Given the description of an element on the screen output the (x, y) to click on. 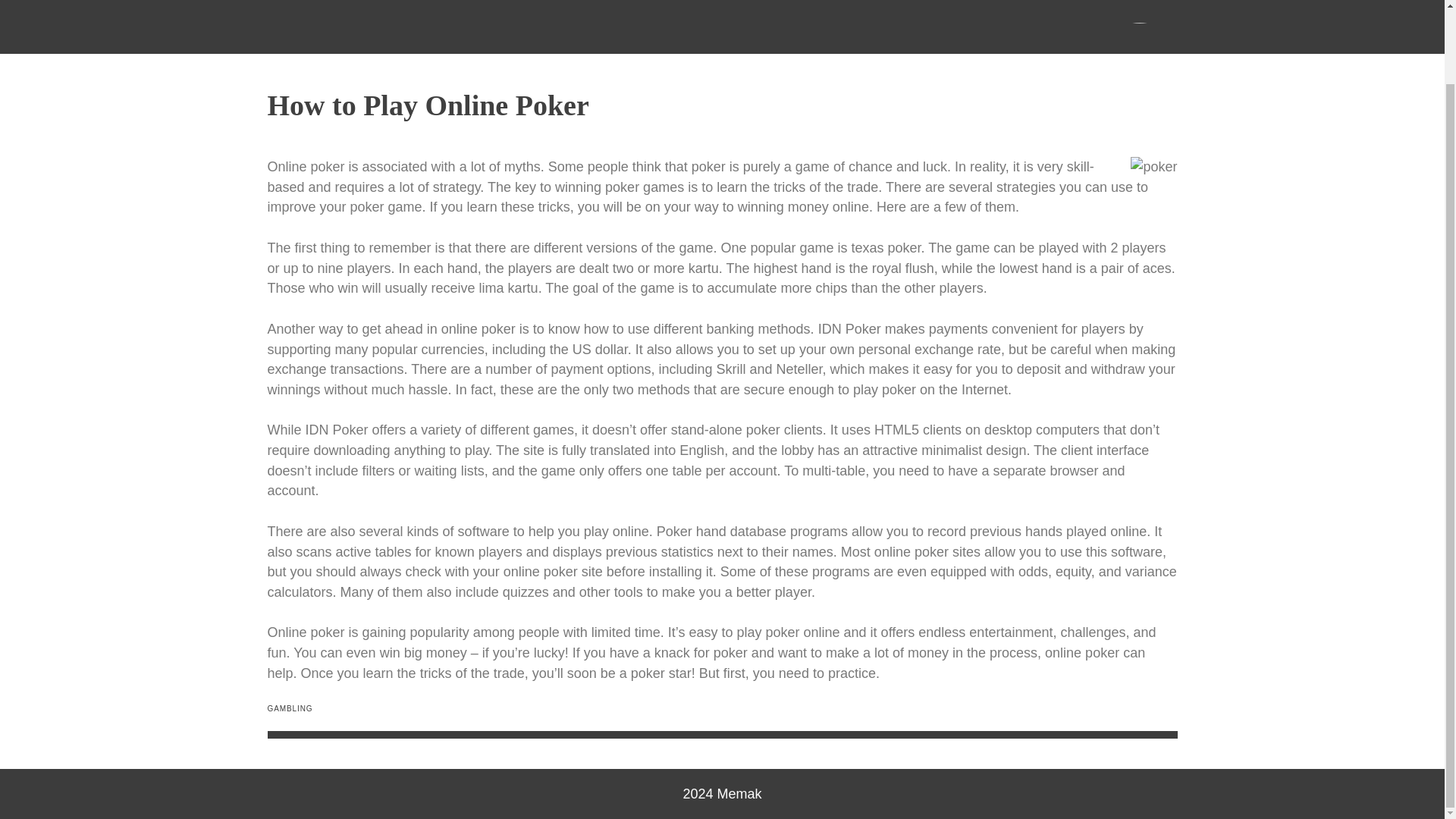
GAMBLING (289, 708)
